Given the description of an element on the screen output the (x, y) to click on. 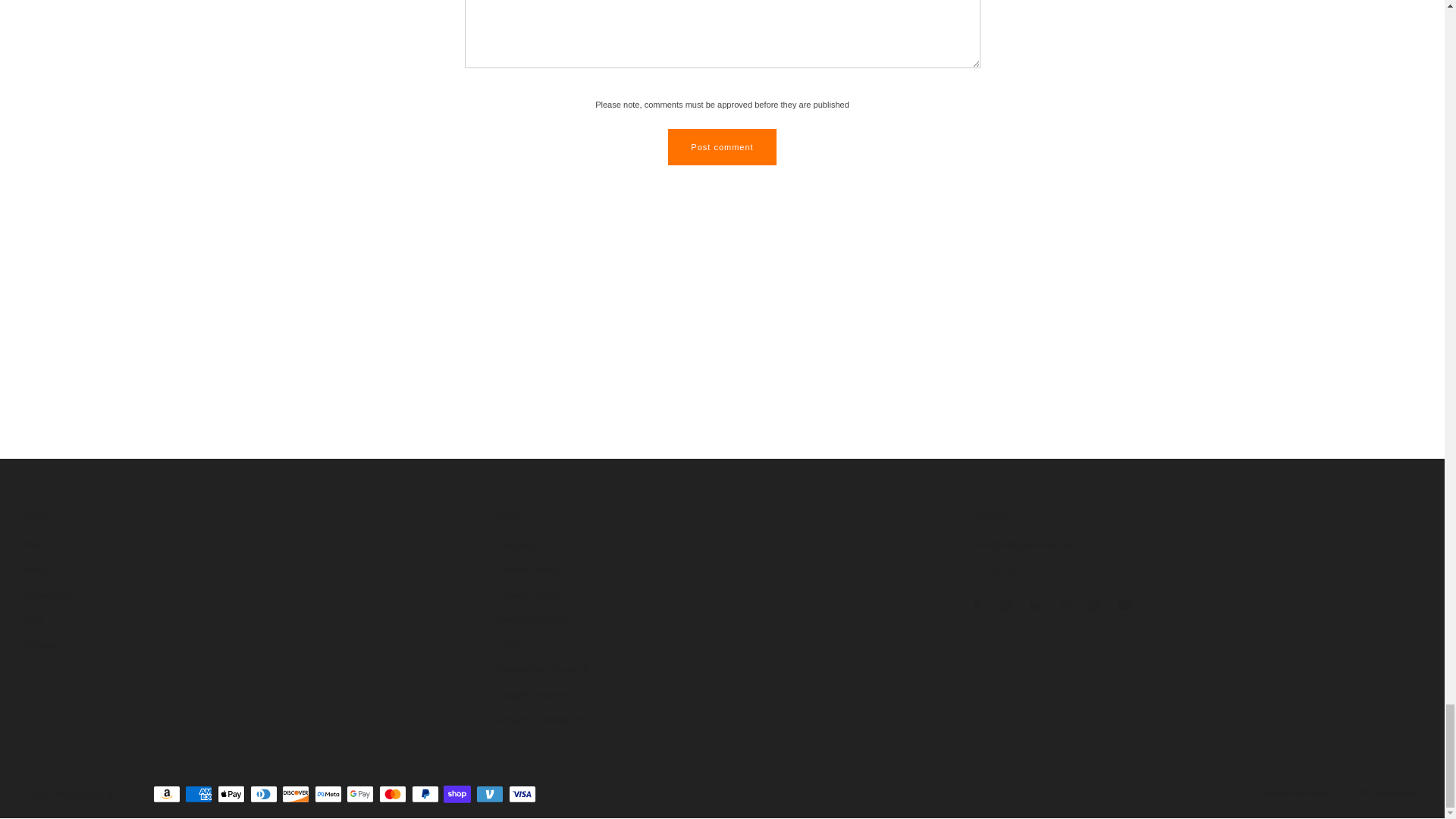
Post comment (722, 146)
